Given the description of an element on the screen output the (x, y) to click on. 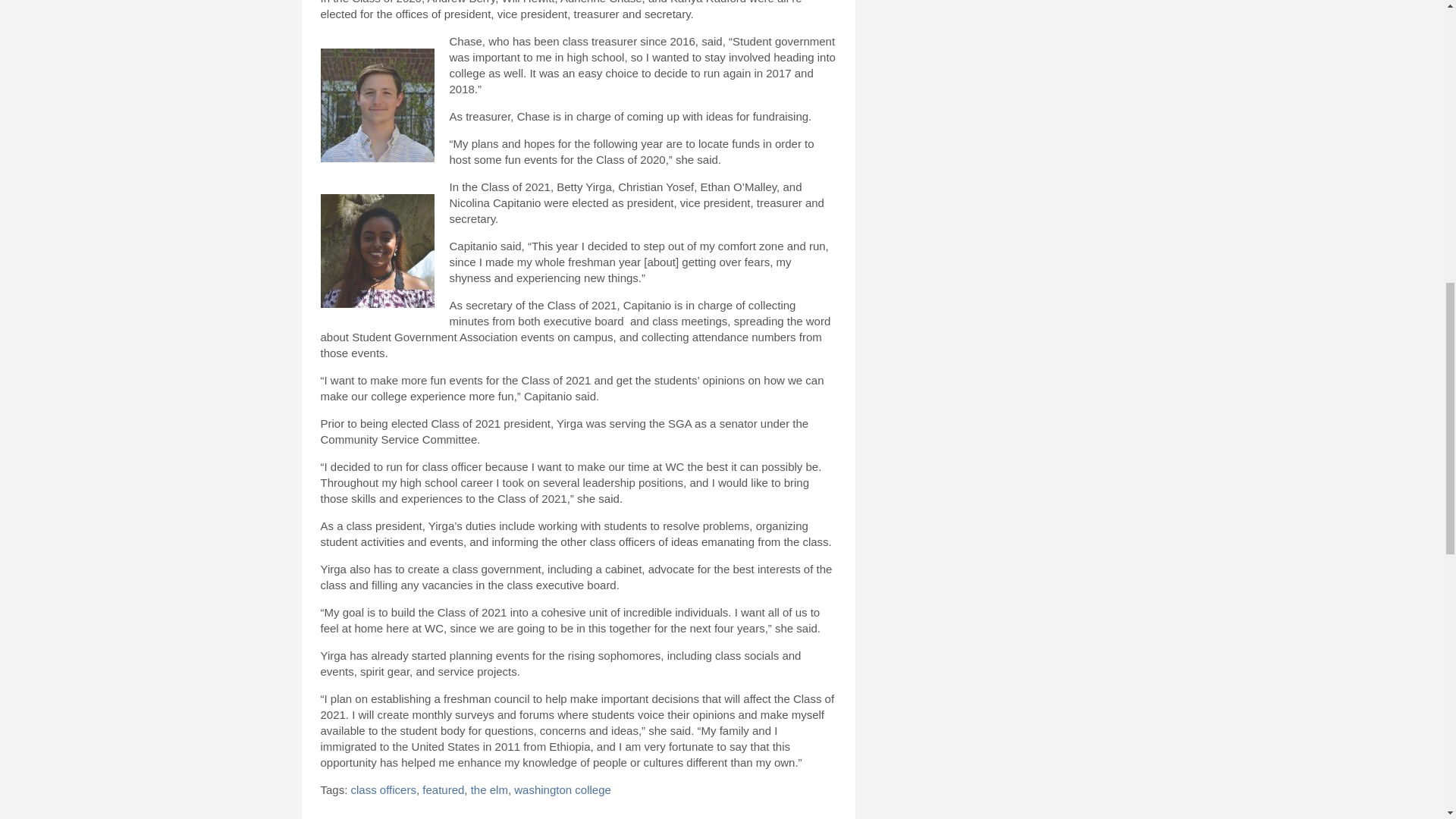
featured (443, 789)
washington college (562, 789)
the elm (489, 789)
class officers (383, 789)
